Given the description of an element on the screen output the (x, y) to click on. 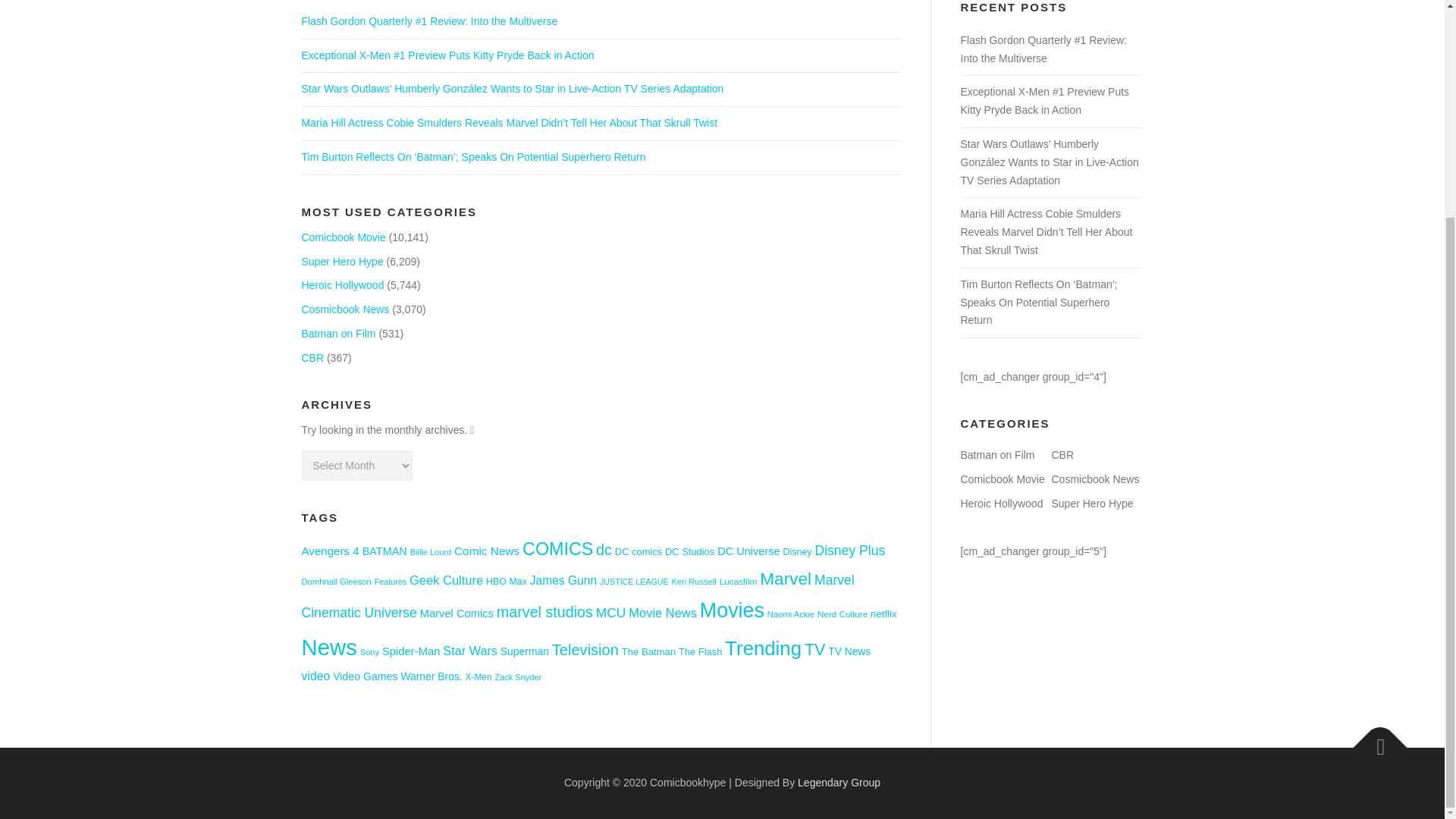
DC Universe (748, 551)
Disney (797, 552)
Super Hero Hype (342, 261)
BATMAN (384, 551)
Avengers 4 (330, 550)
Billie Lourd (430, 551)
Back To Top (1372, 739)
Batman on Film (338, 333)
HBO Max (506, 581)
Heroic Hollywood (342, 285)
